Given the description of an element on the screen output the (x, y) to click on. 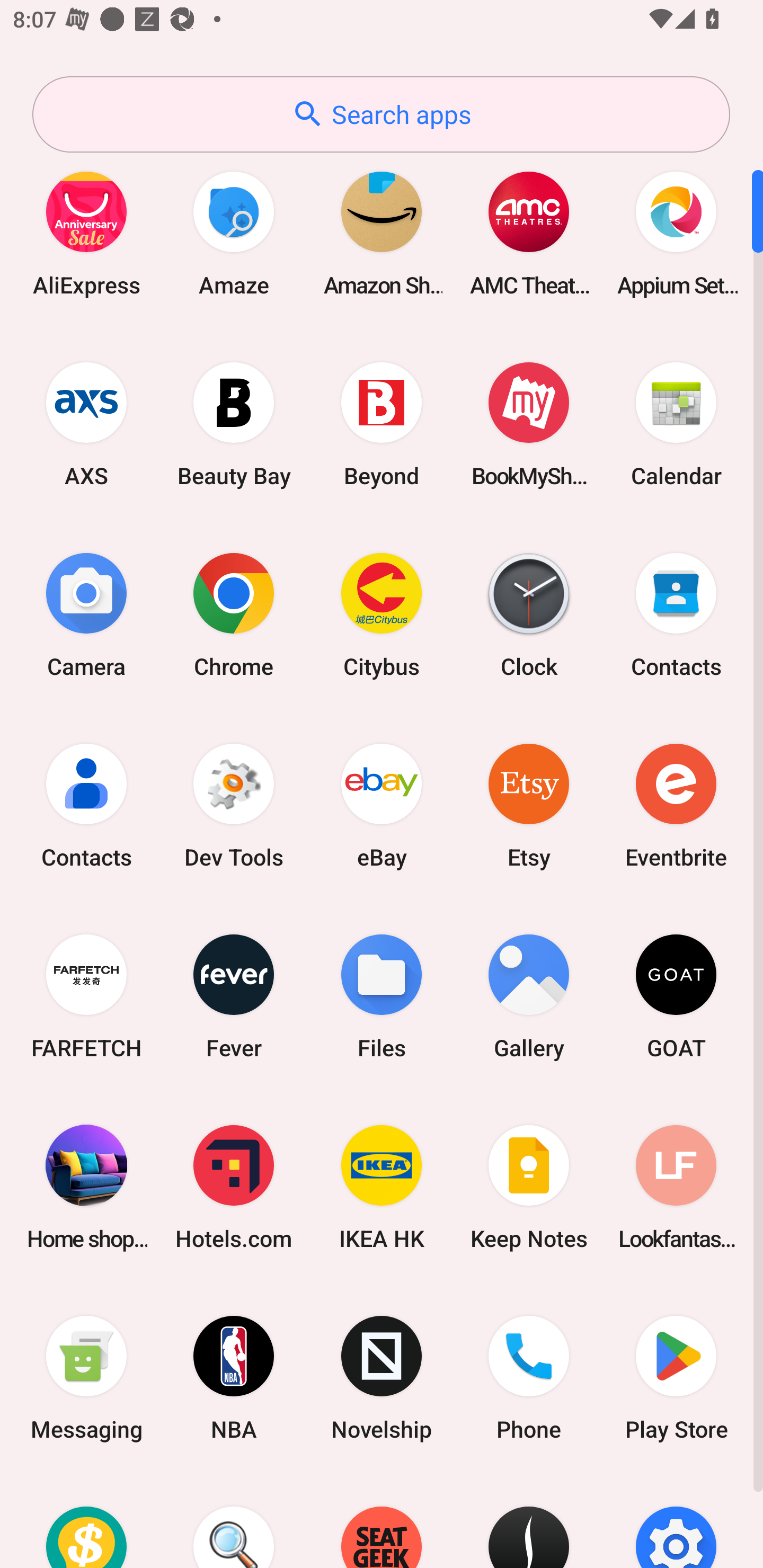
  Search apps (381, 114)
AliExpress (86, 233)
Amaze (233, 233)
Amazon Shopping (381, 233)
AMC Theatres (528, 233)
Appium Settings (676, 233)
AXS (86, 424)
Beauty Bay (233, 424)
Beyond (381, 424)
BookMyShow (528, 424)
Calendar (676, 424)
Camera (86, 614)
Chrome (233, 614)
Citybus (381, 614)
Clock (528, 614)
Contacts (676, 614)
Contacts (86, 805)
Dev Tools (233, 805)
eBay (381, 805)
Etsy (528, 805)
Eventbrite (676, 805)
FARFETCH (86, 996)
Fever (233, 996)
Files (381, 996)
Gallery (528, 996)
GOAT (676, 996)
Home shopping (86, 1186)
Hotels.com (233, 1186)
IKEA HK (381, 1186)
Keep Notes (528, 1186)
Lookfantastic (676, 1186)
Messaging (86, 1377)
NBA (233, 1377)
Novelship (381, 1377)
Phone (528, 1377)
Play Store (676, 1377)
